Given the description of an element on the screen output the (x, y) to click on. 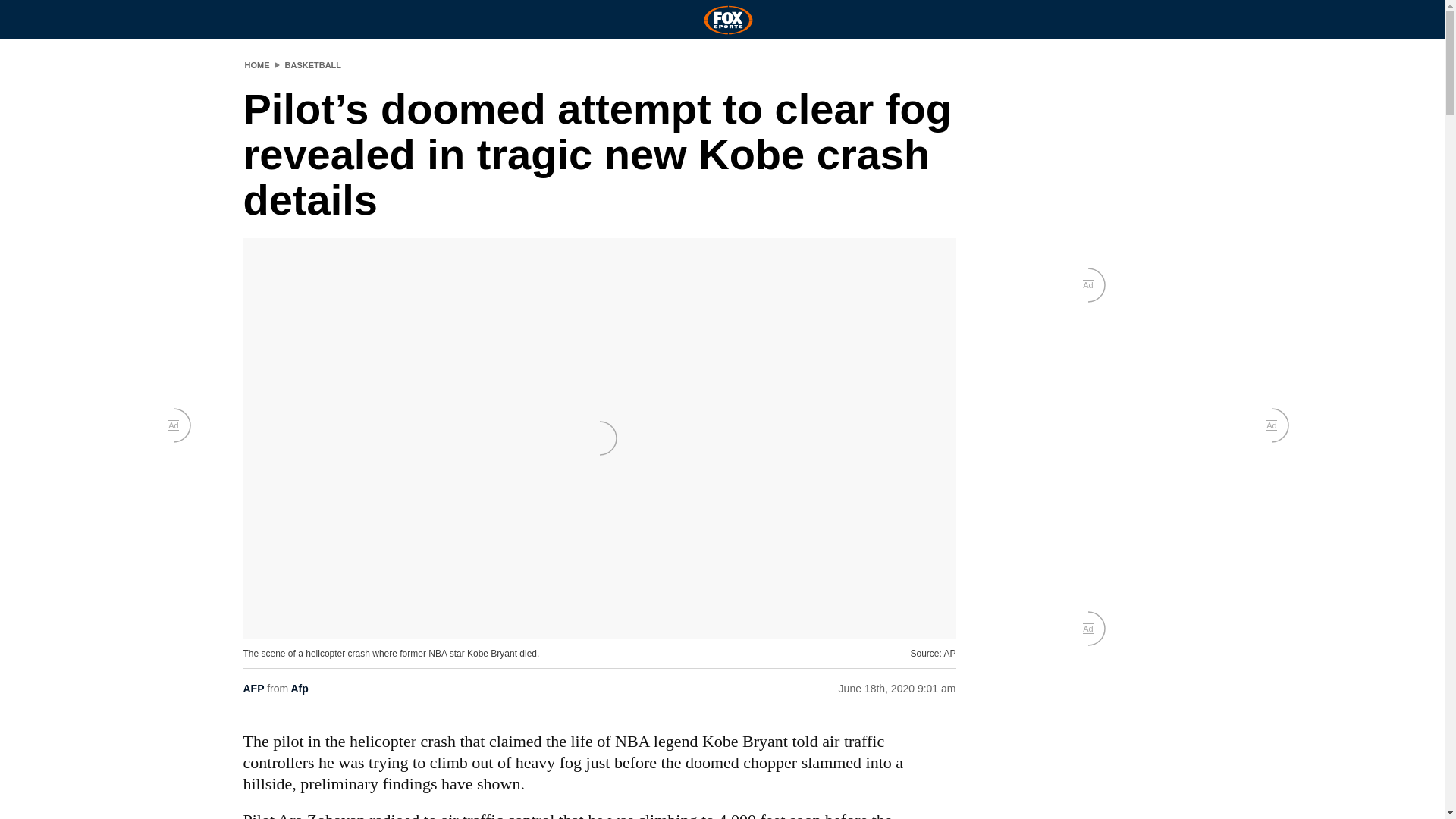
BASKETBALL (313, 64)
HOME (256, 64)
